Given the description of an element on the screen output the (x, y) to click on. 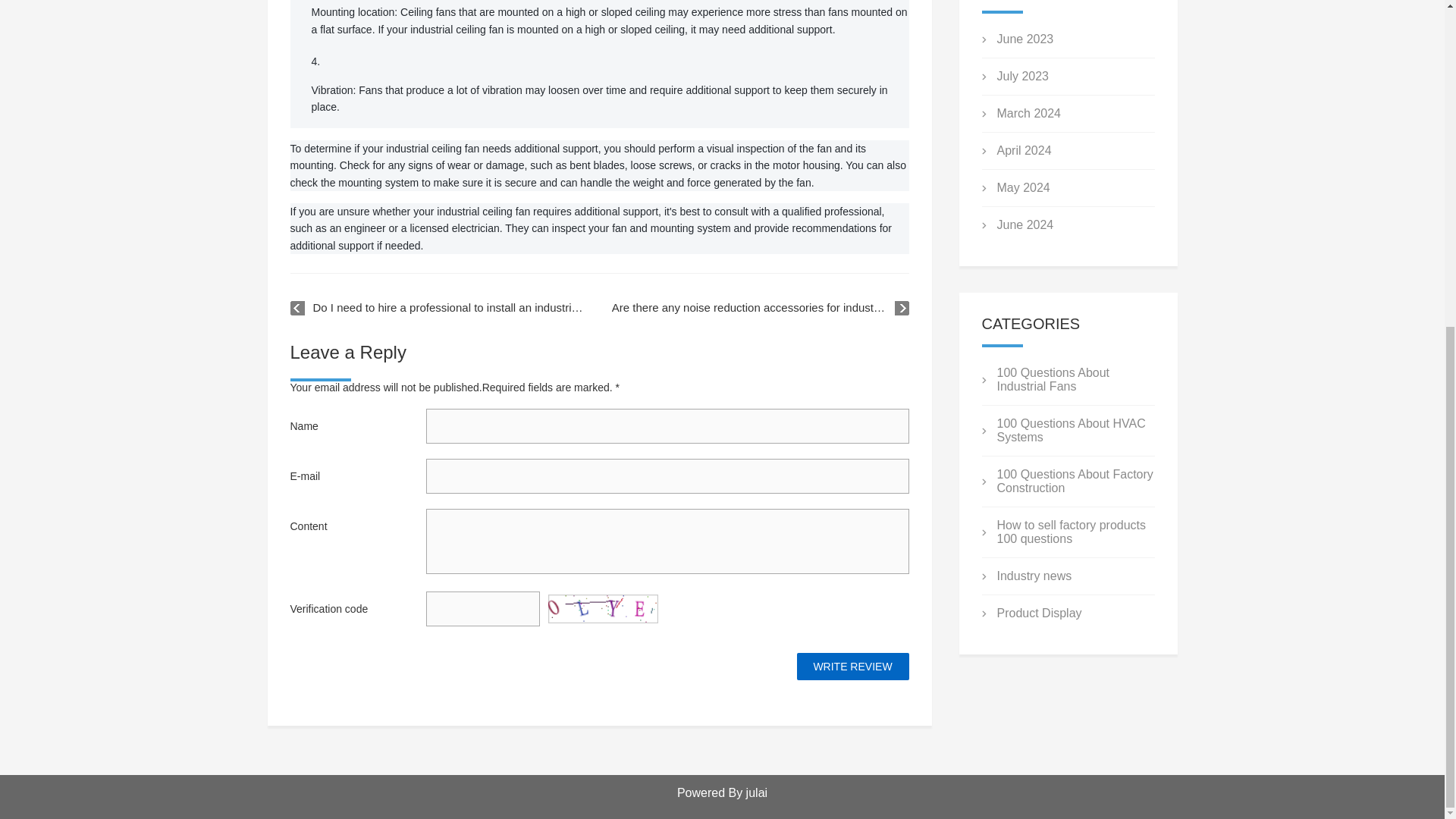
100 Questions About Industrial Fans (1052, 379)
How to sell factory products 100 questions (1070, 531)
Product Display (1038, 612)
100 Questions About Factory Construction (1074, 480)
May 2024 (1022, 187)
WRITE REVIEW (852, 666)
June 2024 (1023, 224)
WRITE REVIEW (852, 666)
